Given the description of an element on the screen output the (x, y) to click on. 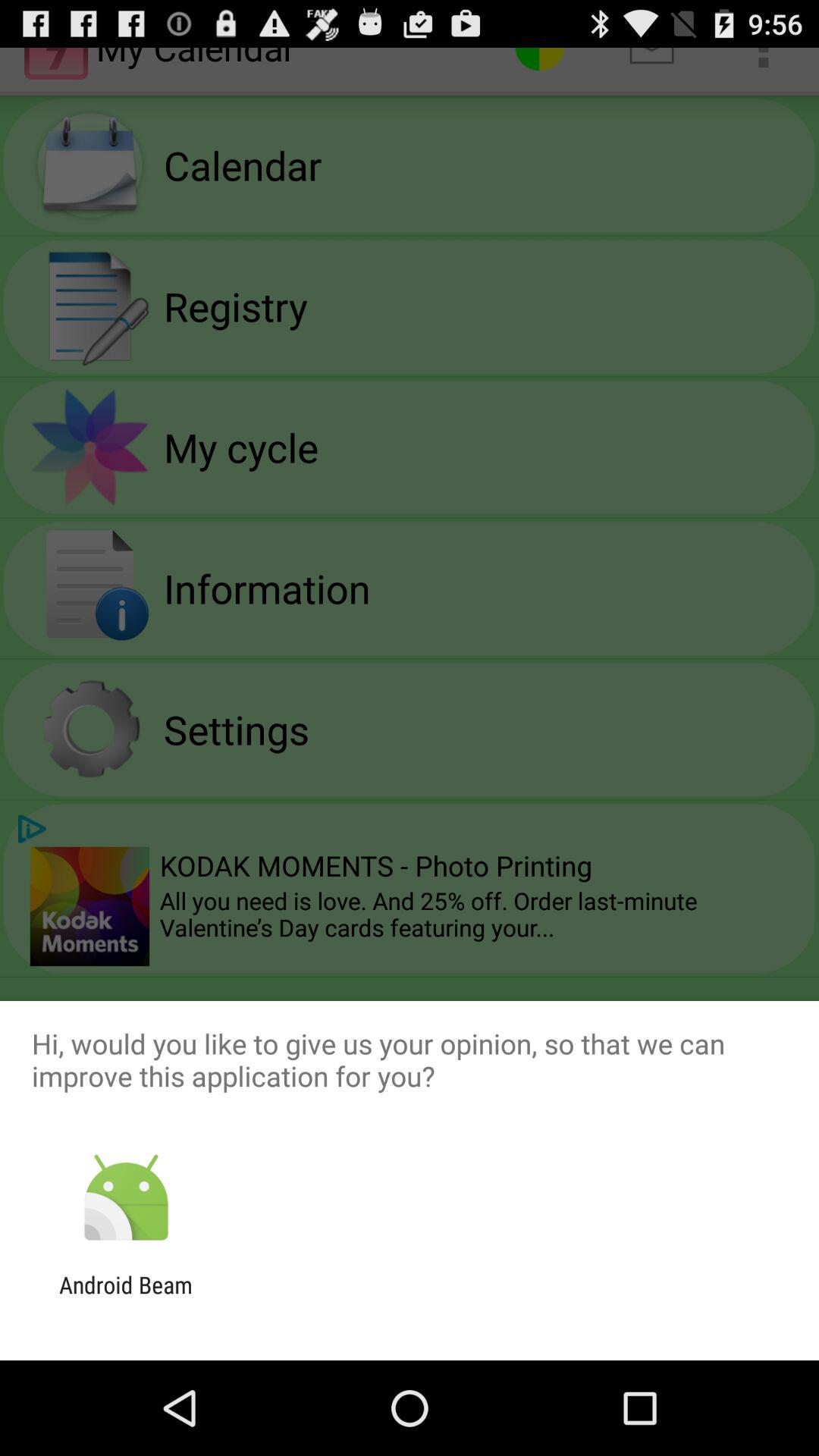
jump to android beam (125, 1298)
